Given the description of an element on the screen output the (x, y) to click on. 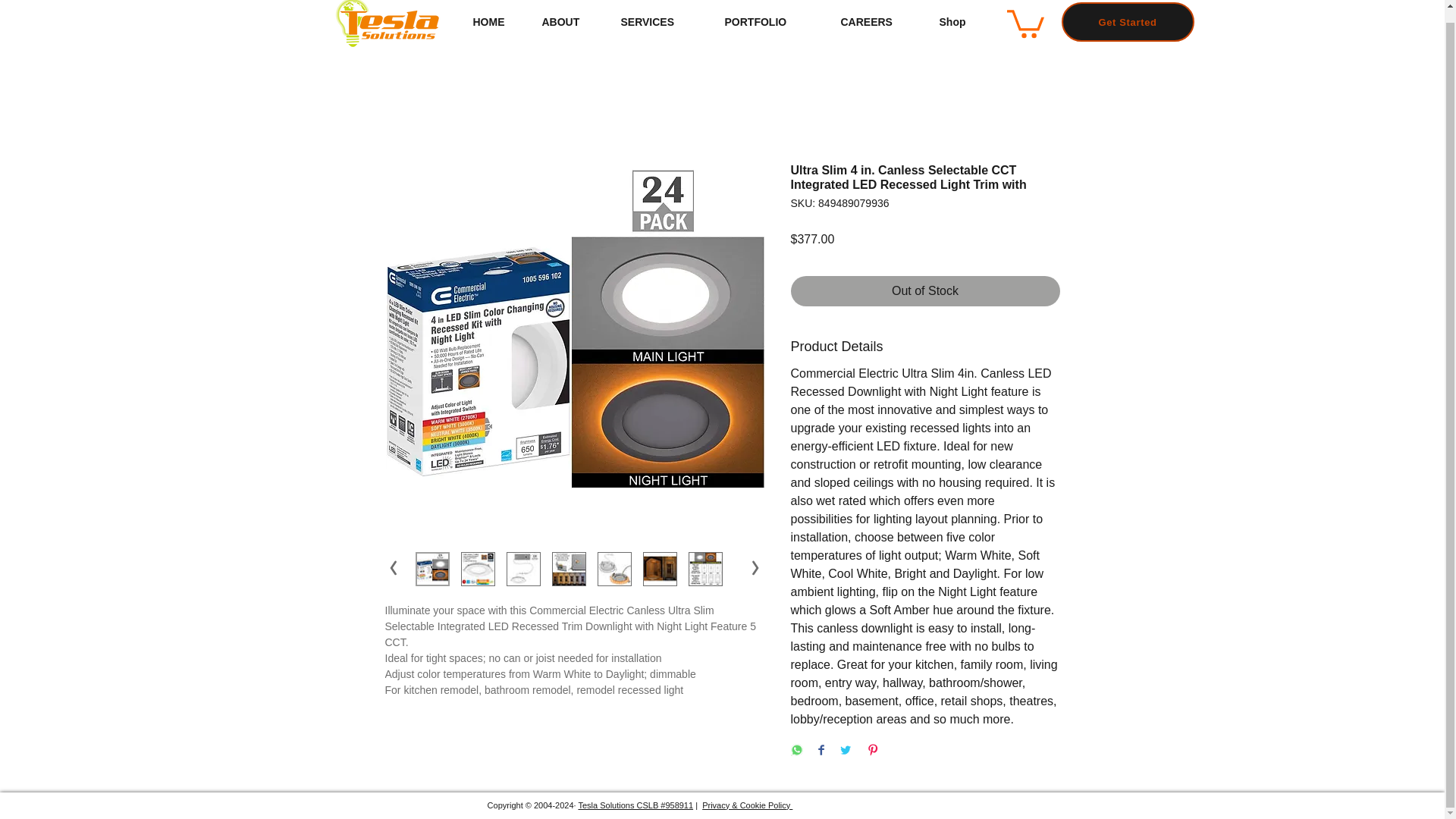
SERVICES (661, 22)
HOME (495, 22)
ABOUT (570, 22)
tesla-logo.png (385, 24)
CAREERS (878, 22)
Shop (961, 22)
Out of Stock (924, 291)
Get Started (1127, 21)
PORTFOLIO (770, 22)
